Given the description of an element on the screen output the (x, y) to click on. 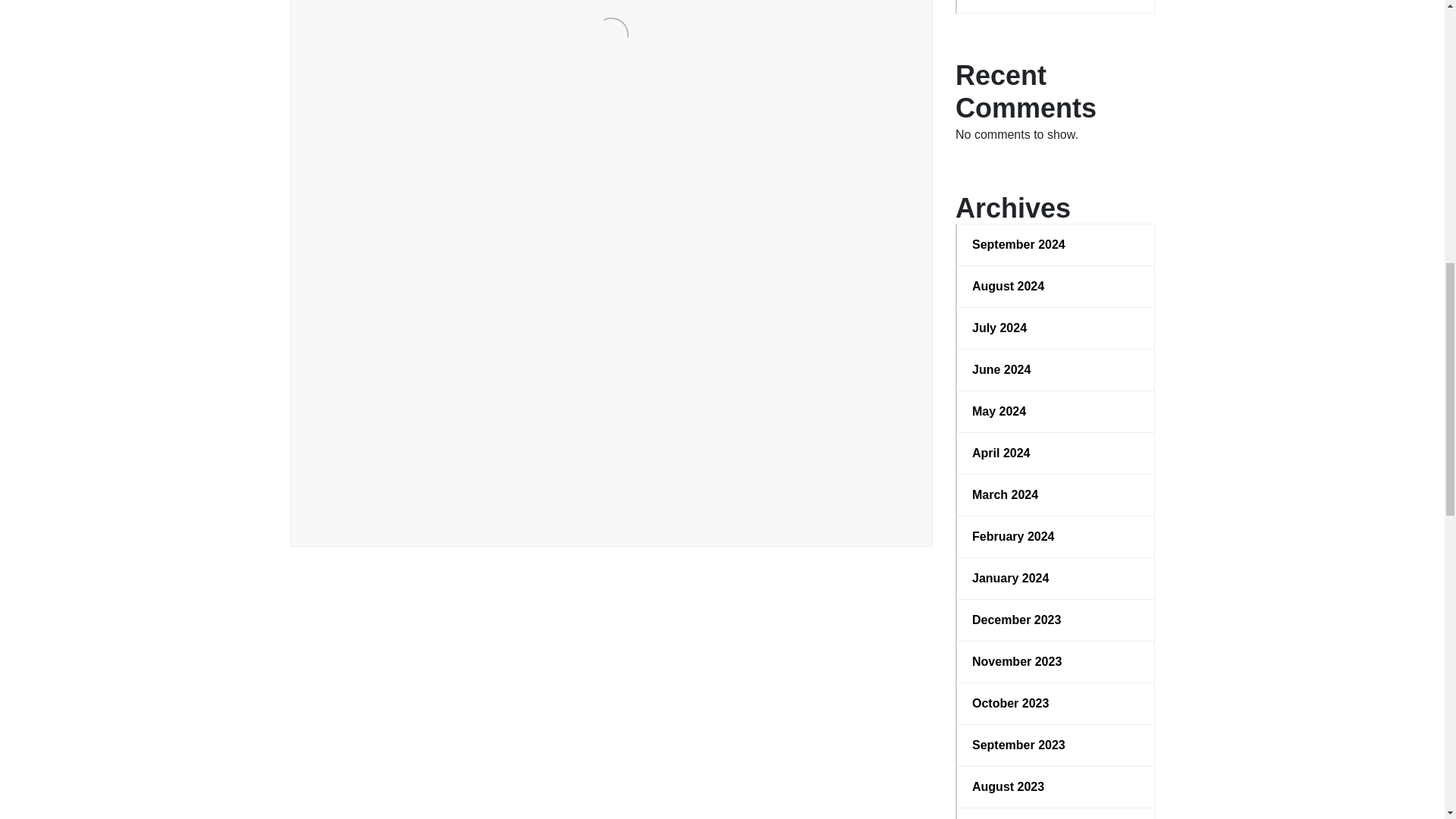
September 2023 (1055, 745)
December 2023 (1055, 619)
November 2023 (1055, 661)
August 2024 (1055, 286)
October 2023 (1055, 703)
January 2024 (1055, 578)
August 2023 (1055, 787)
April 2024 (1055, 453)
June 2024 (1055, 370)
